Given the description of an element on the screen output the (x, y) to click on. 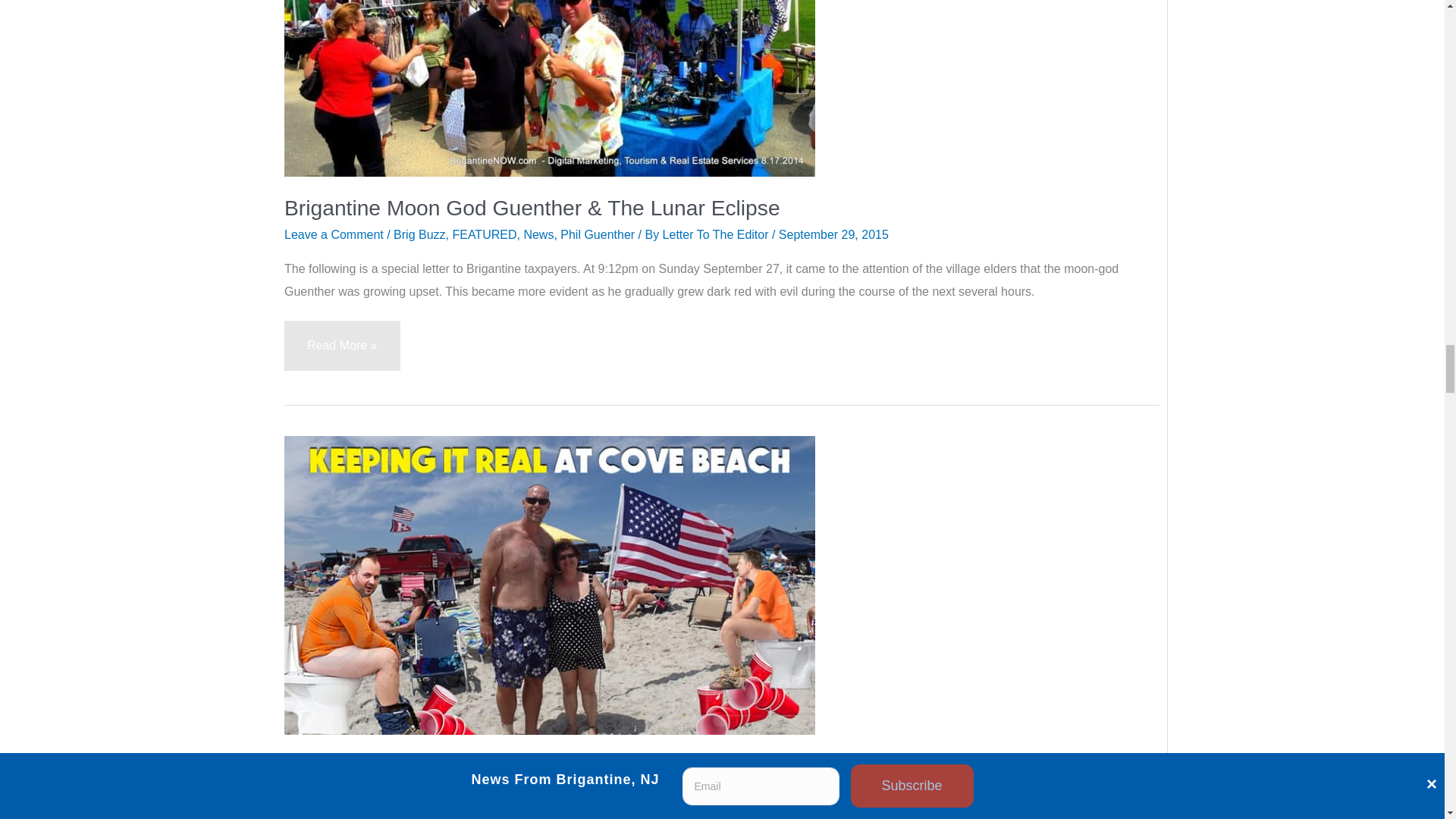
View all posts by Letter To The Editor (611, 791)
View all posts by Letter To The Editor (716, 234)
